Given the description of an element on the screen output the (x, y) to click on. 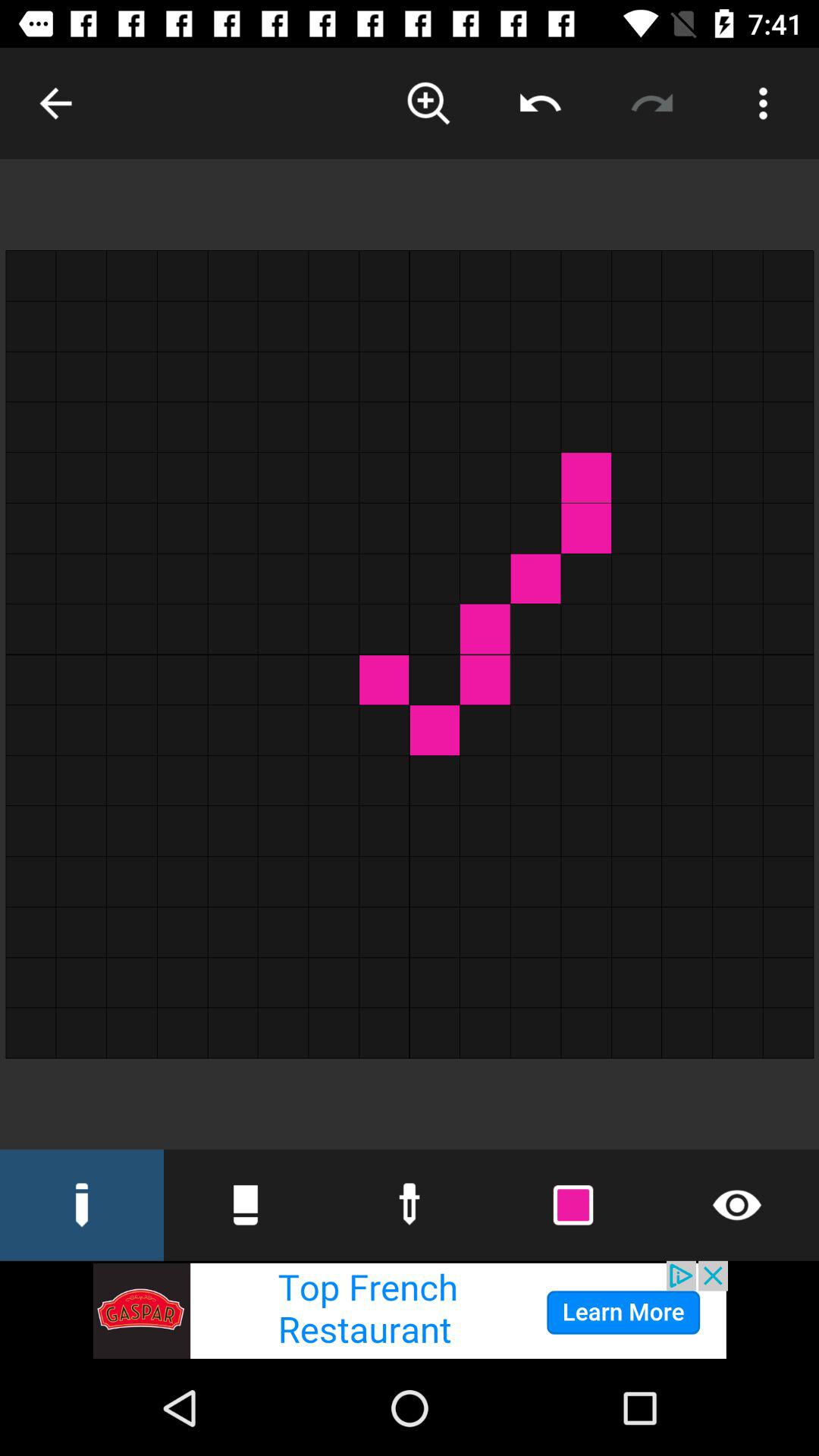
rotate forward (651, 103)
